Given the description of an element on the screen output the (x, y) to click on. 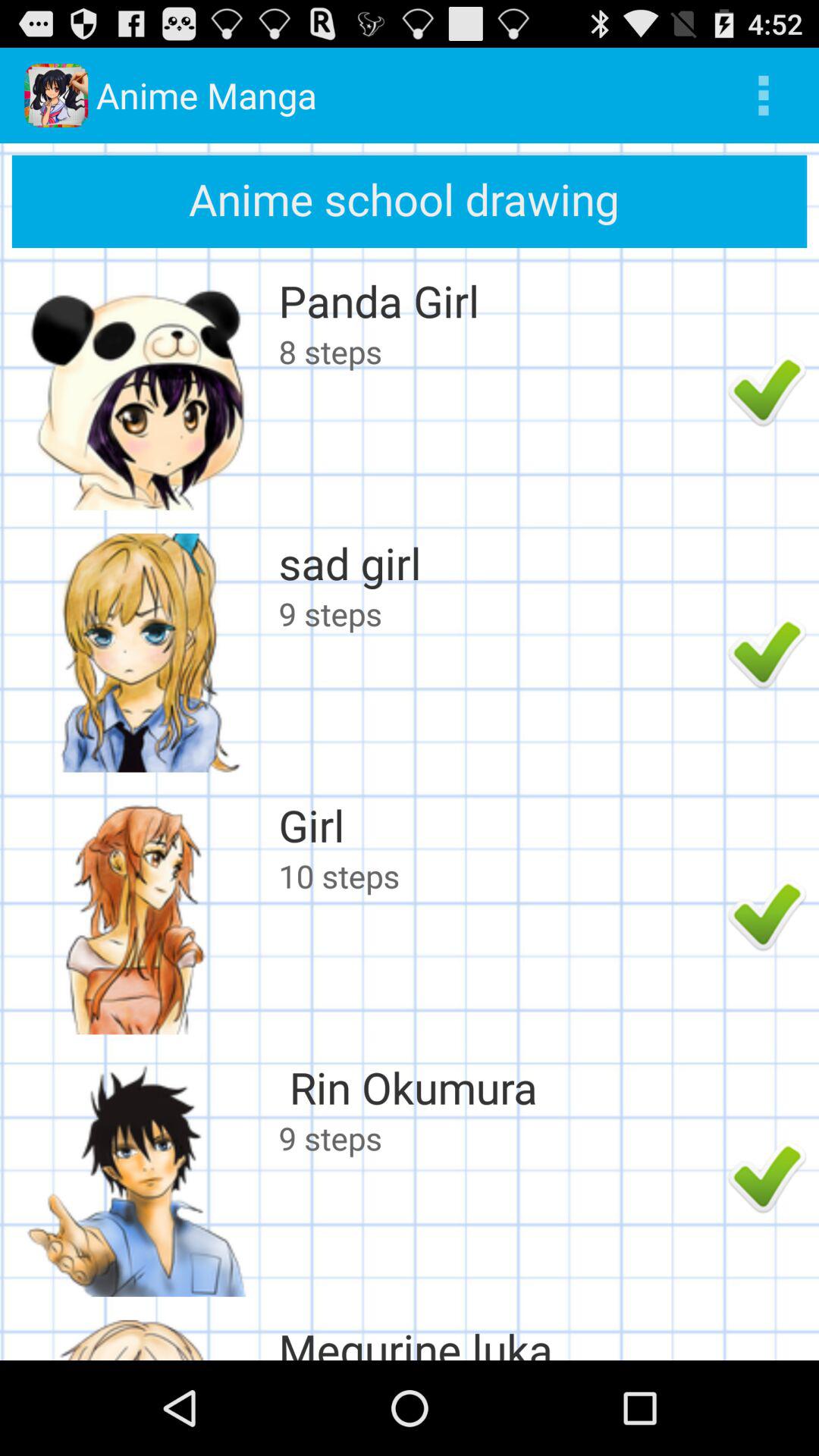
swipe until anime school drawing (409, 201)
